Given the description of an element on the screen output the (x, y) to click on. 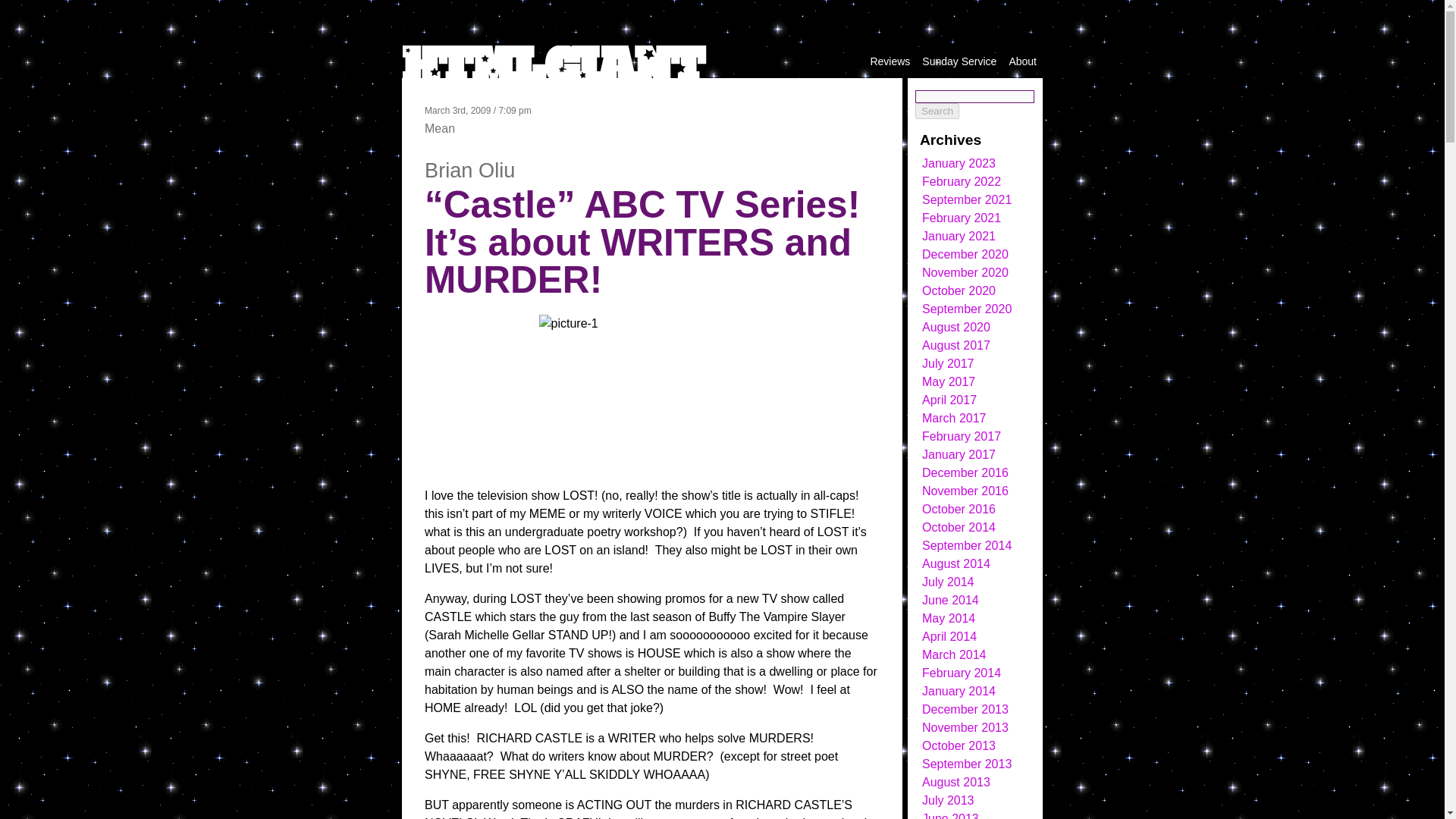
About (1022, 61)
Mean (439, 128)
Posts by Brian Oliu (470, 169)
Sunday Service (958, 61)
Search (937, 110)
Brian Oliu (470, 169)
Reviews (889, 61)
